Given the description of an element on the screen output the (x, y) to click on. 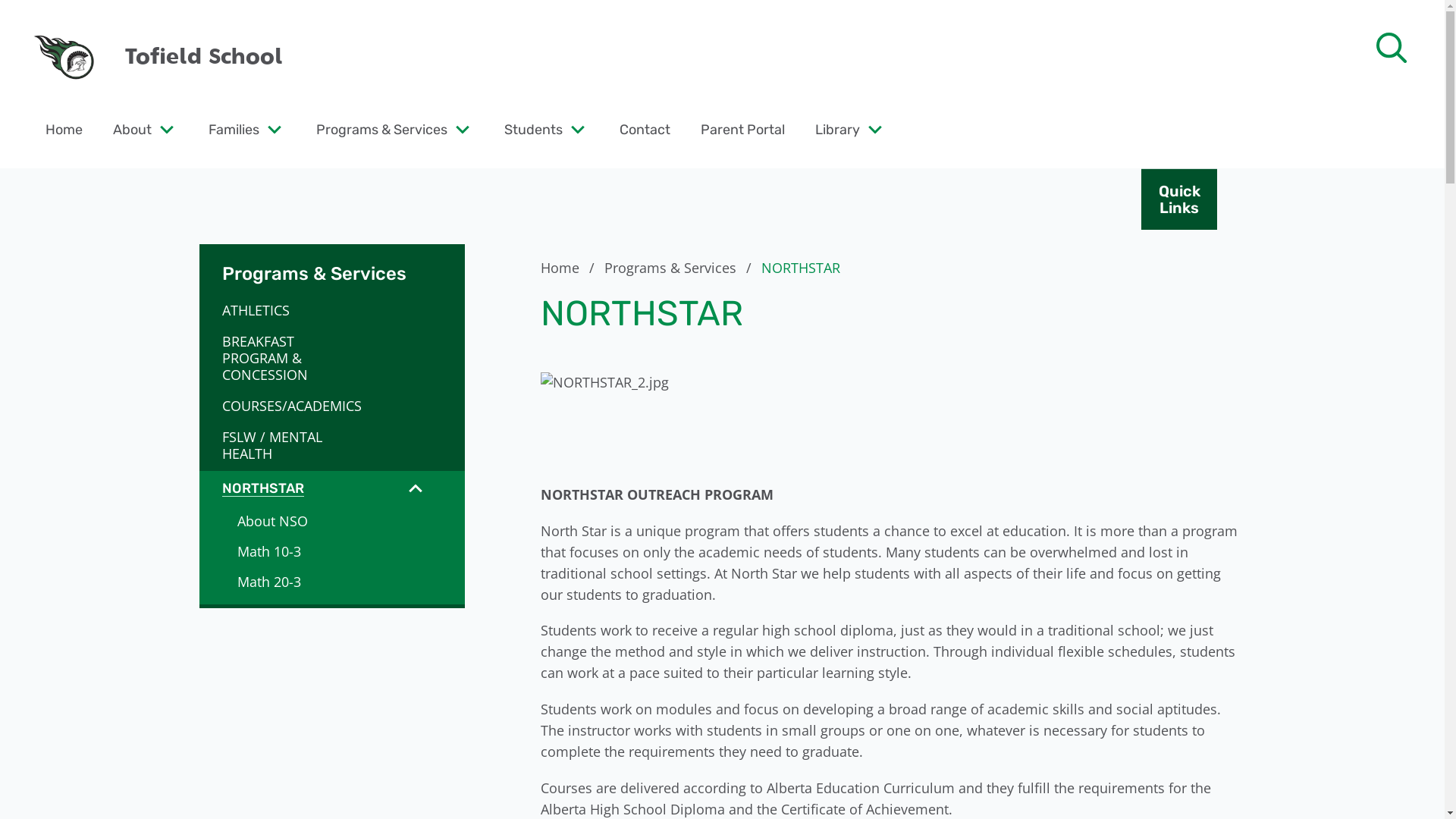
Programs & Services Element type: text (331, 264)
Quick Links Element type: text (1179, 198)
FSLW / MENTAL HEALTH Element type: text (287, 445)
Parent Portal Element type: text (742, 129)
Families Element type: text (233, 129)
NORTHSTAR Element type: text (284, 488)
Library Element type: text (837, 129)
Students Element type: text (533, 129)
Home Element type: text (569, 267)
COURSES/ACADEMICS Element type: text (287, 405)
Math 20-3 Element type: text (331, 581)
About NSO Element type: text (331, 520)
BREAKFAST PROGRAM & CONCESSION Element type: text (287, 357)
About Element type: text (131, 129)
home Element type: hover (64, 56)
ATHLETICS Element type: text (287, 309)
Home Element type: text (63, 129)
Programs & Services Element type: text (679, 267)
Contact Element type: text (644, 129)
Search Element type: text (45, 19)
Math 10-3 Element type: text (331, 551)
Programs & Services Element type: text (381, 129)
